Given the description of an element on the screen output the (x, y) to click on. 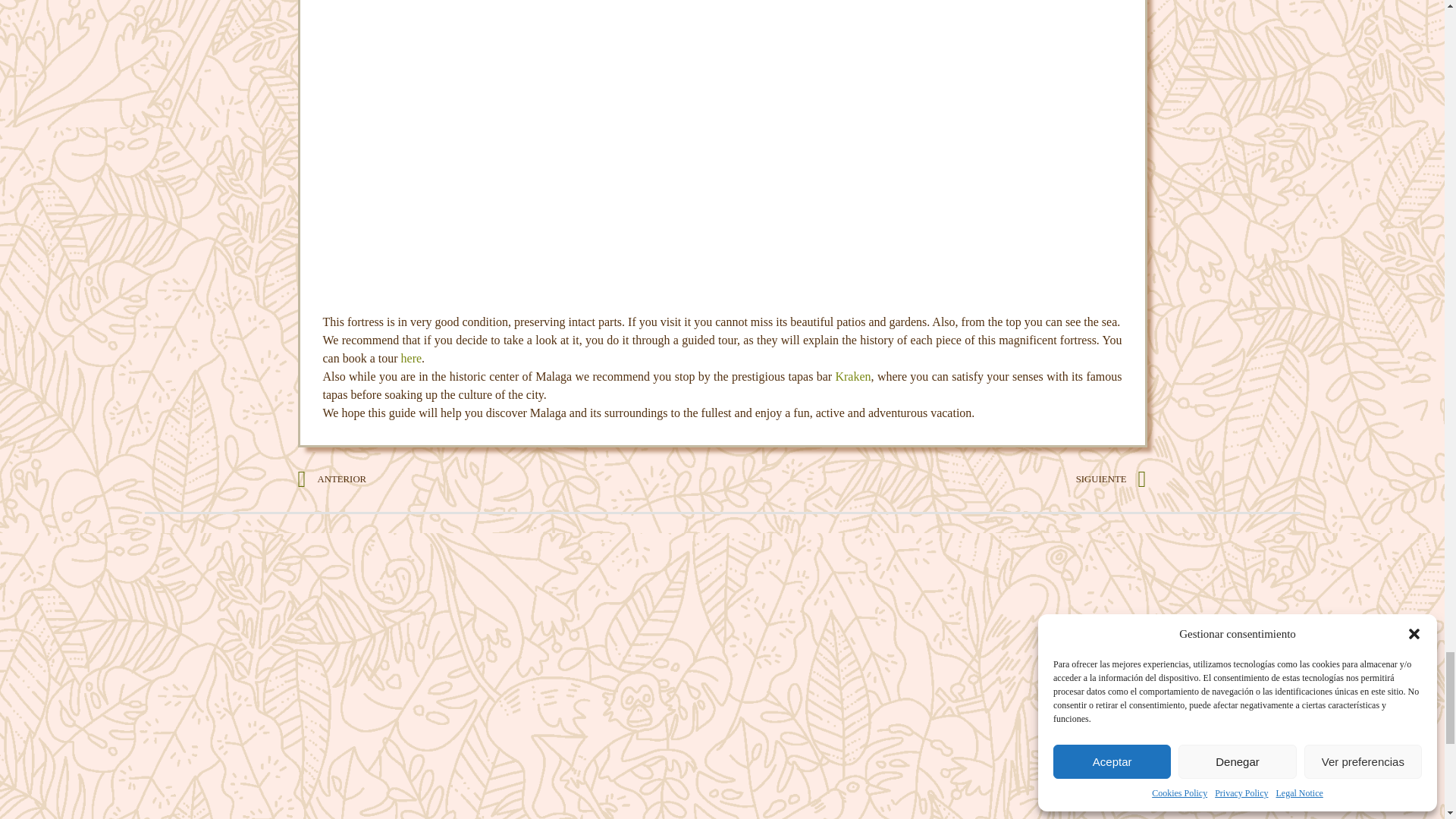
SIGUIENTE (934, 479)
ANTERIOR (509, 479)
here (411, 358)
Kraken (852, 376)
